Given the description of an element on the screen output the (x, y) to click on. 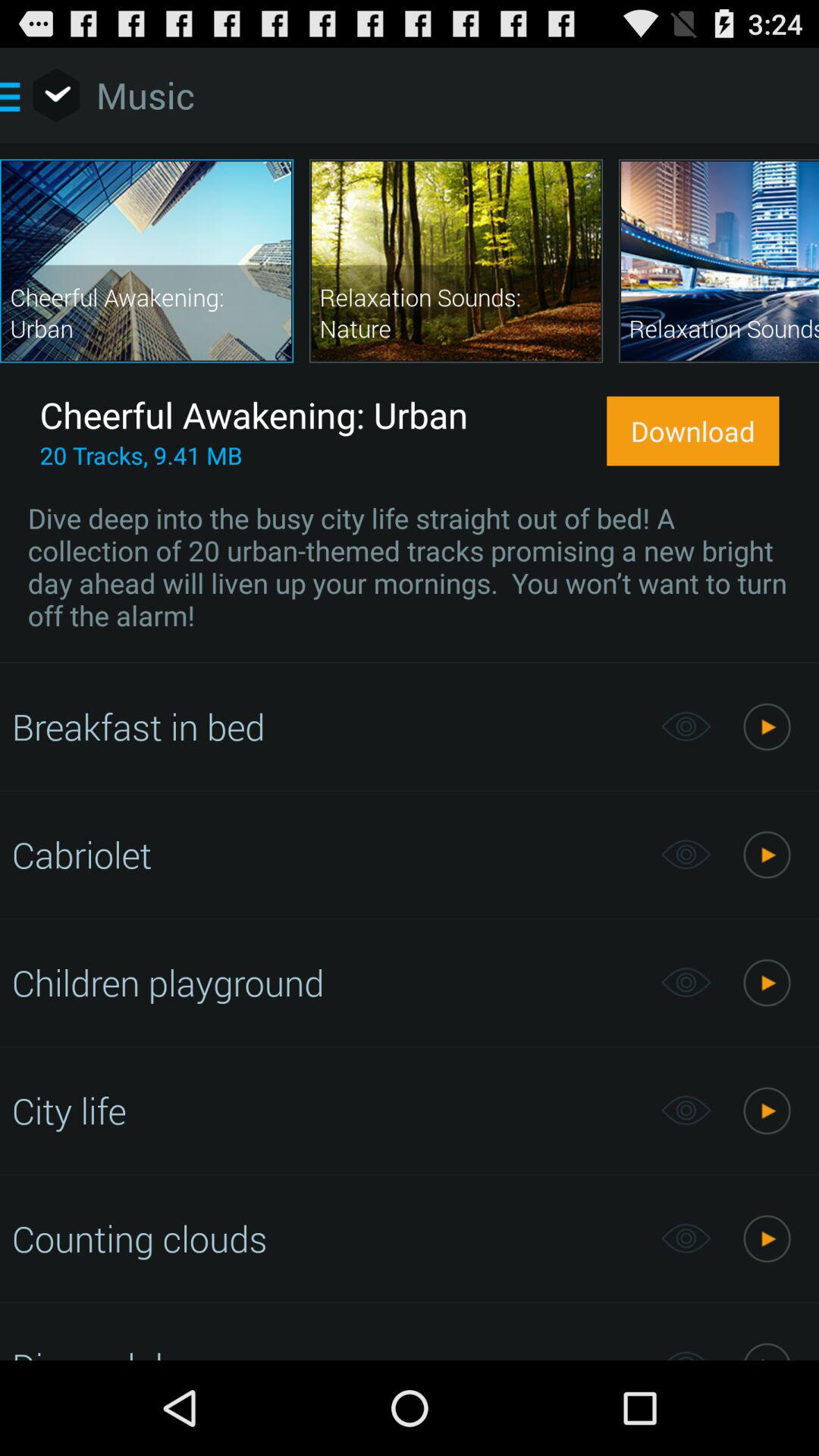
choose icon above the dive deep into (692, 430)
